Given the description of an element on the screen output the (x, y) to click on. 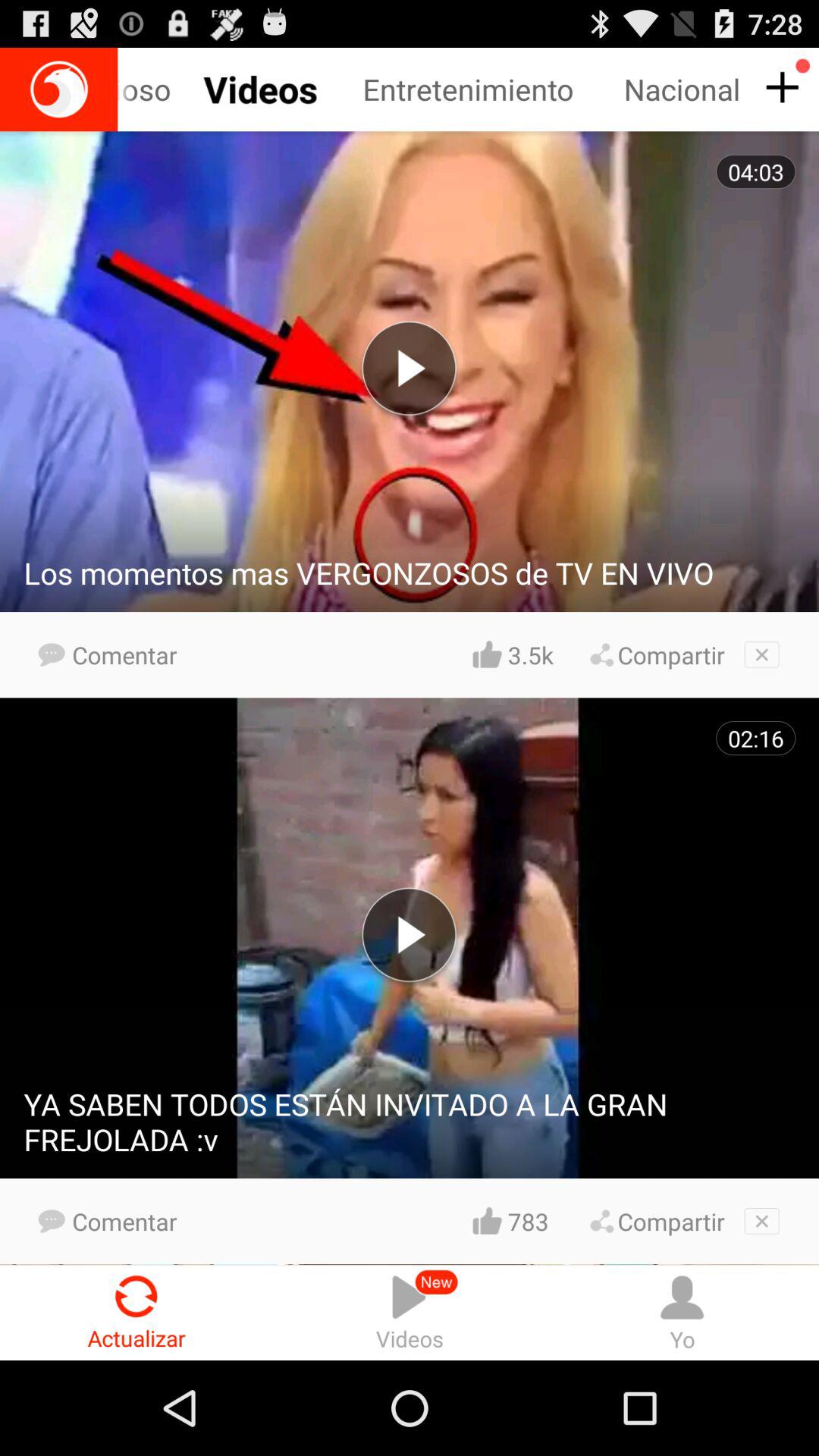
open menu (779, 87)
